Given the description of an element on the screen output the (x, y) to click on. 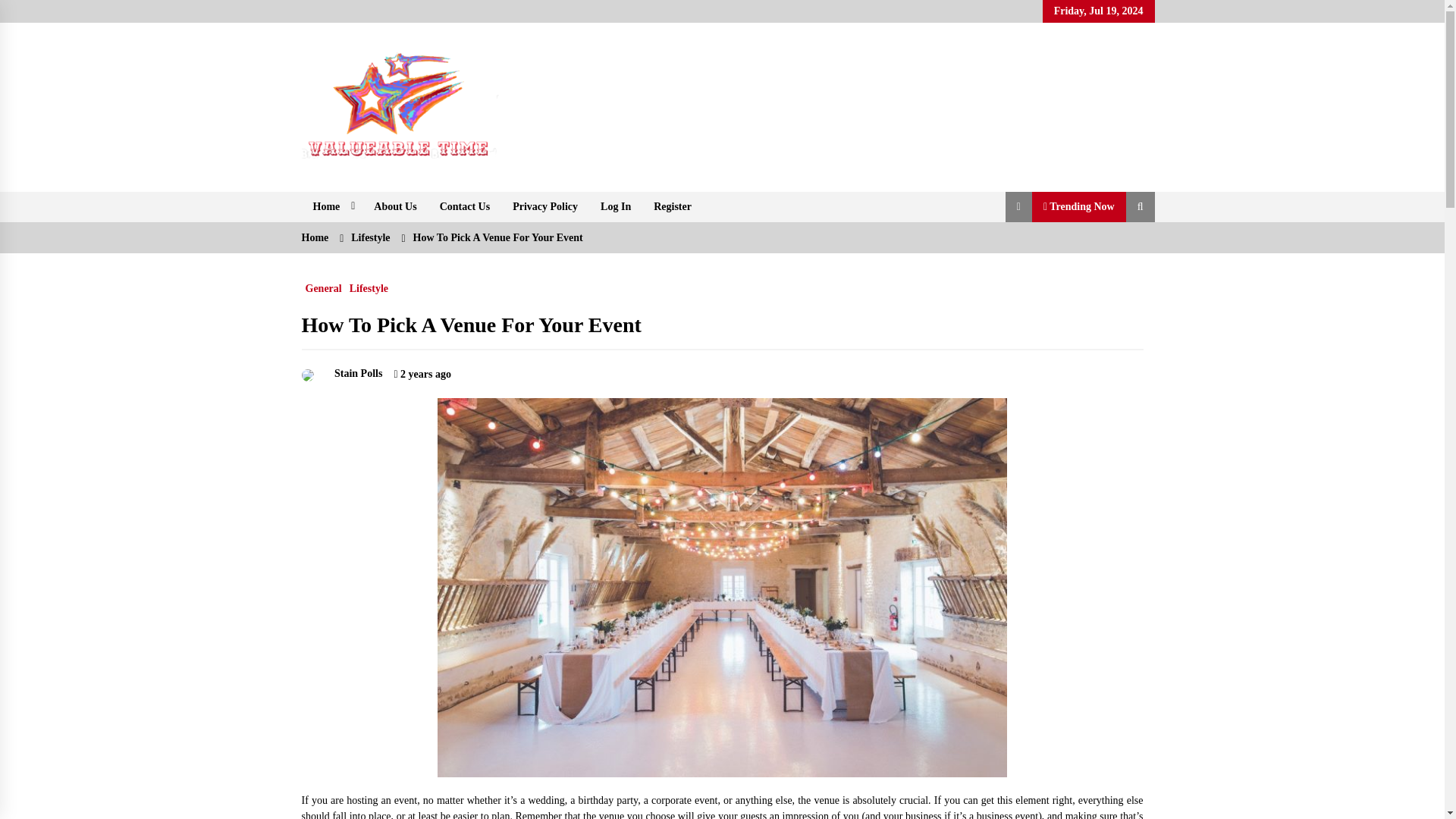
Time and tide wait for none (458, 185)
Contact Us (465, 206)
Register (672, 206)
Privacy Policy (544, 206)
About Us (395, 206)
Home (331, 206)
Log In (615, 206)
